Given the description of an element on the screen output the (x, y) to click on. 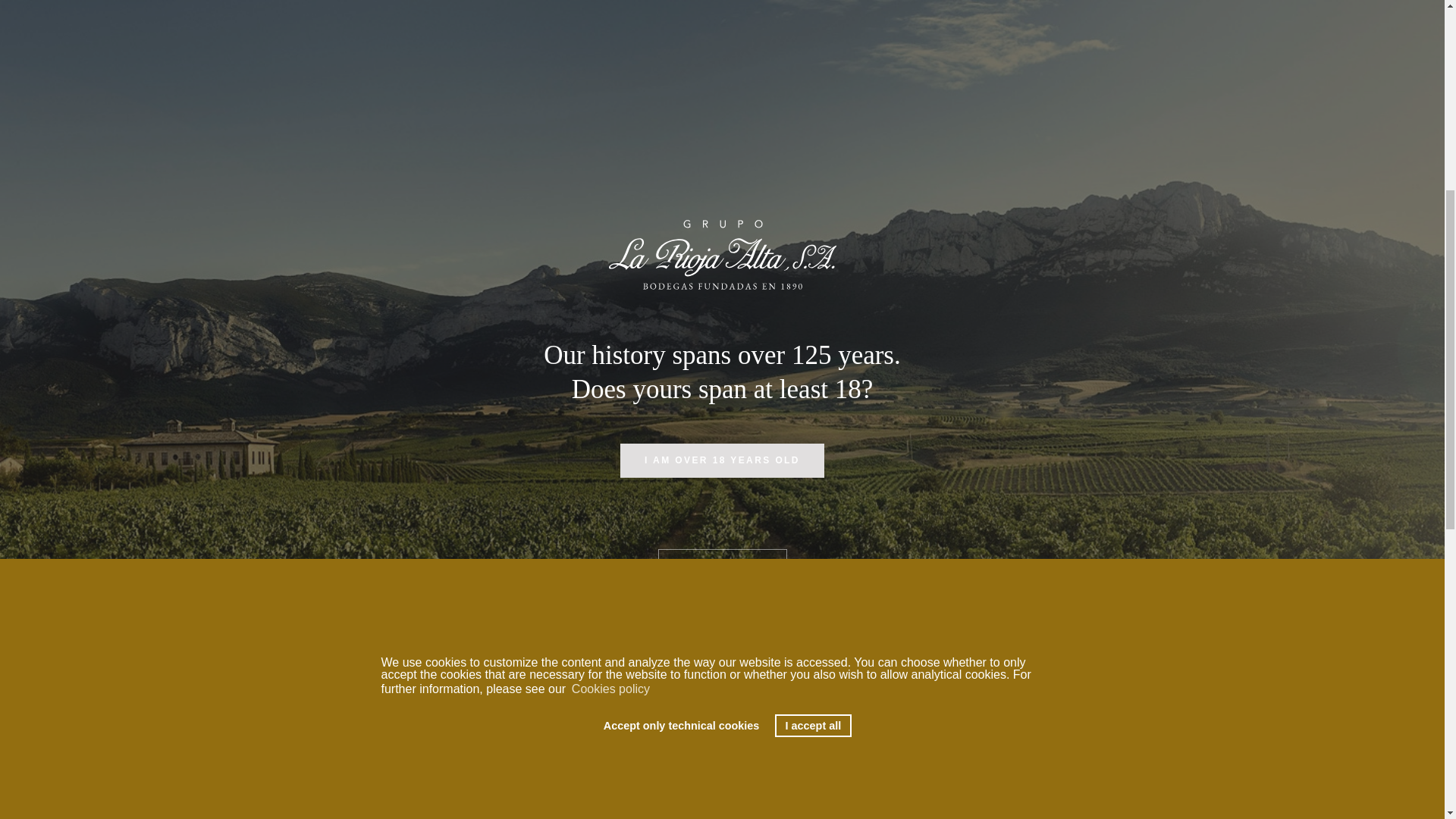
I accept all (812, 291)
Cookies policy (610, 255)
Accept only technical cookies (681, 291)
